Given the description of an element on the screen output the (x, y) to click on. 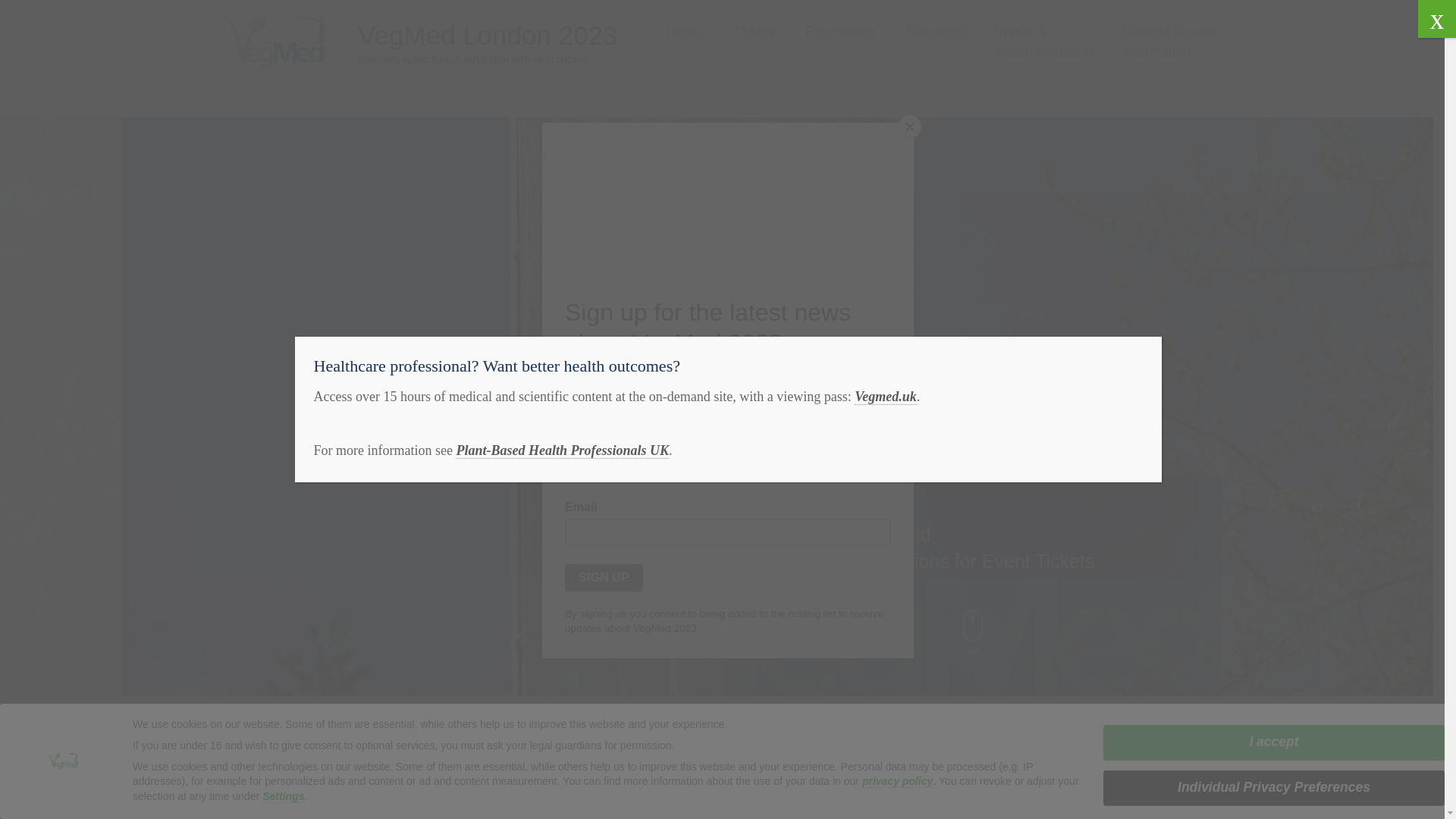
Plant-Based Health Professionals UK (561, 450)
privacy policy (897, 780)
Home (683, 31)
Speakers (935, 31)
Vegmed.uk (885, 396)
Tickets (753, 31)
Programme (840, 31)
